Given the description of an element on the screen output the (x, y) to click on. 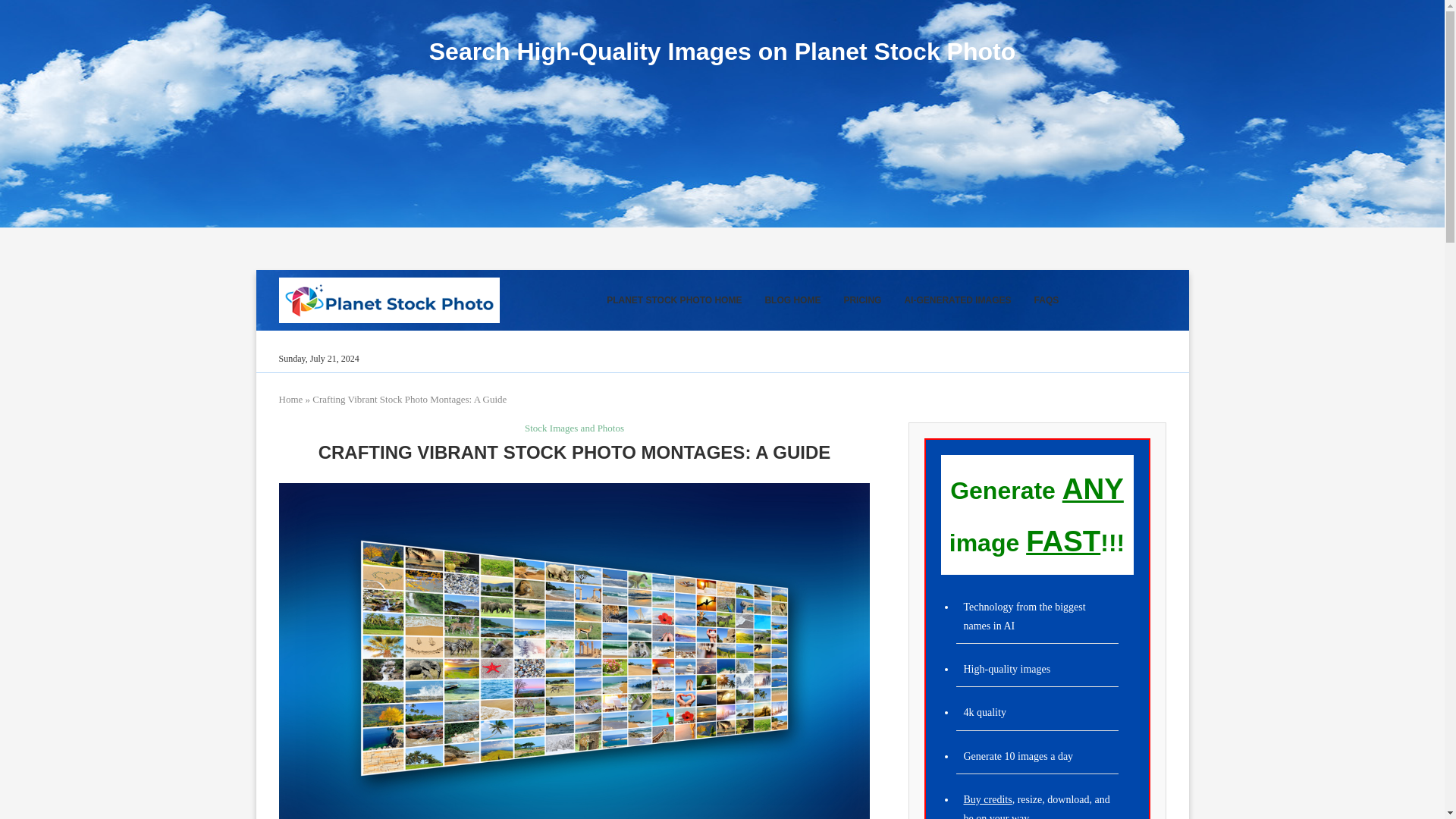
AI-GENERATED IMAGES (957, 300)
BLOG HOME (792, 300)
PLANET STOCK PHOTO HOME (674, 300)
Home (290, 398)
Stock Images and Photos (574, 428)
